Given the description of an element on the screen output the (x, y) to click on. 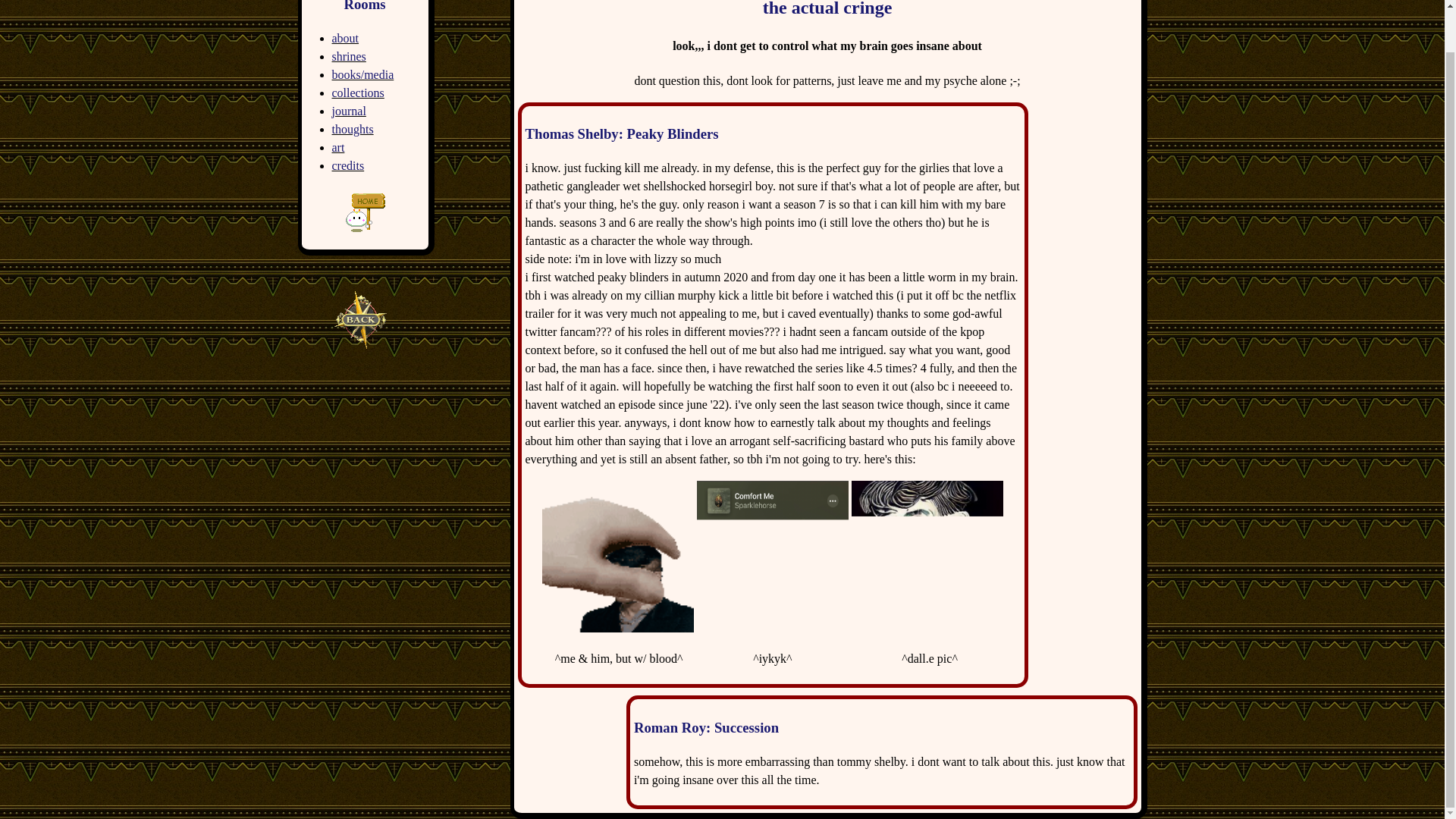
collections (357, 92)
thoughts (352, 128)
about (345, 38)
shrines (348, 56)
art (338, 146)
credits (348, 164)
journal (348, 110)
